Given the description of an element on the screen output the (x, y) to click on. 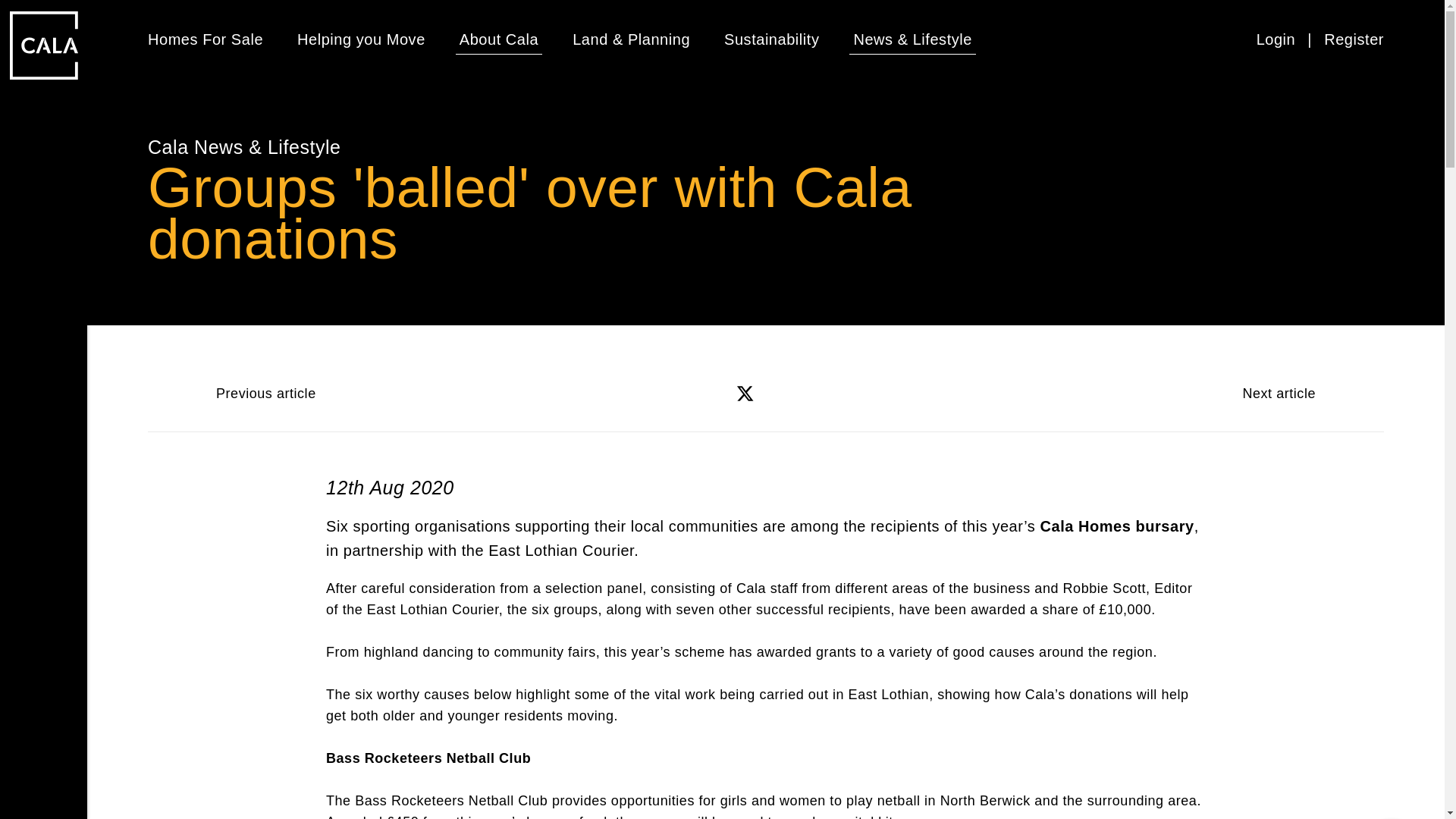
Share to Facebook (702, 393)
Homes For Sale (205, 39)
Share to LinkedIn (786, 393)
Sustainability (771, 39)
About Cala (499, 39)
Share to Pinterest (828, 393)
Share to Twitter X (744, 393)
Previous article (239, 393)
Next article (1304, 393)
Helping you Move (360, 39)
